Given the description of an element on the screen output the (x, y) to click on. 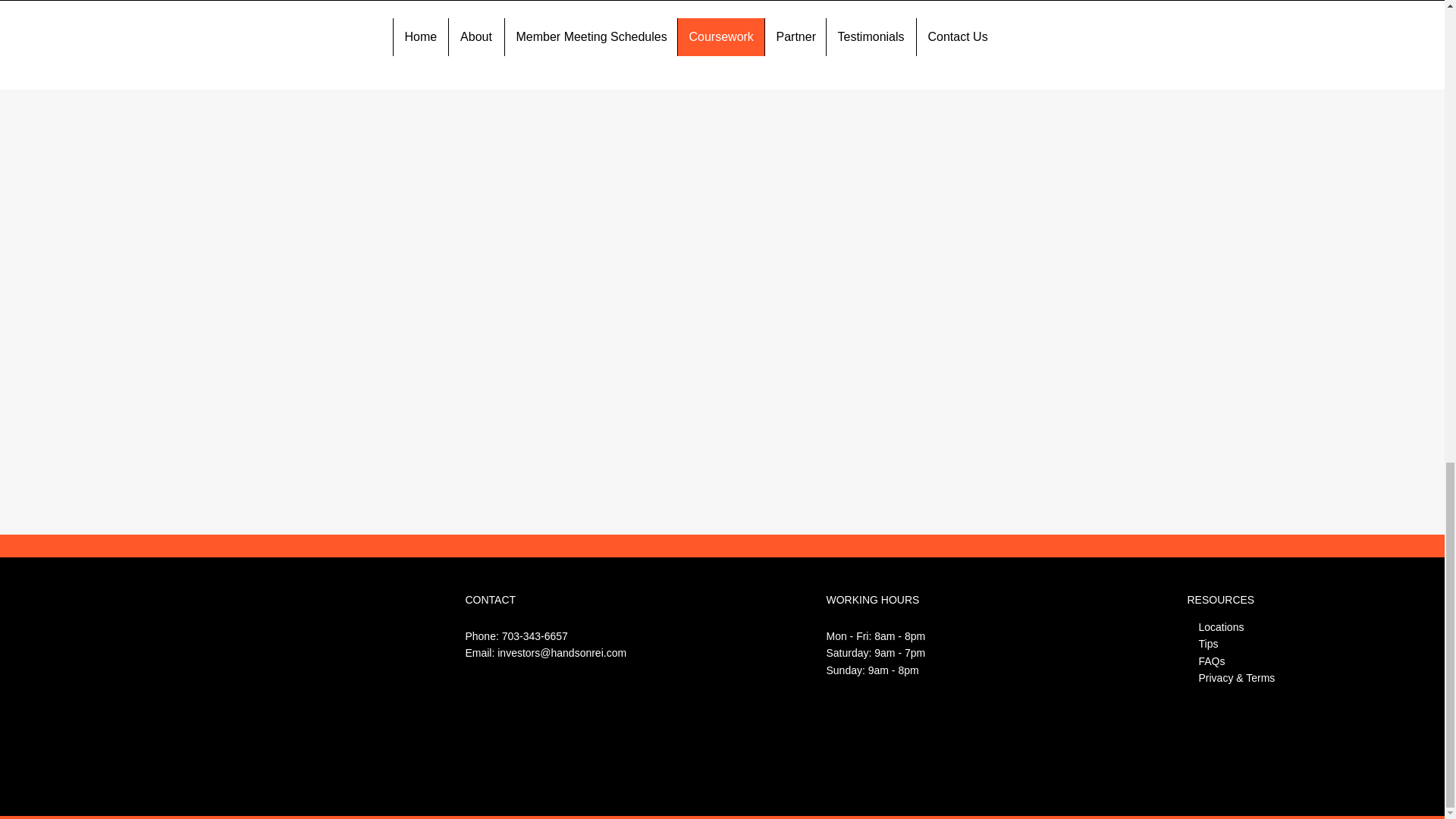
FAQs (1211, 661)
Locations (1220, 626)
Tips (1207, 644)
